Given the description of an element on the screen output the (x, y) to click on. 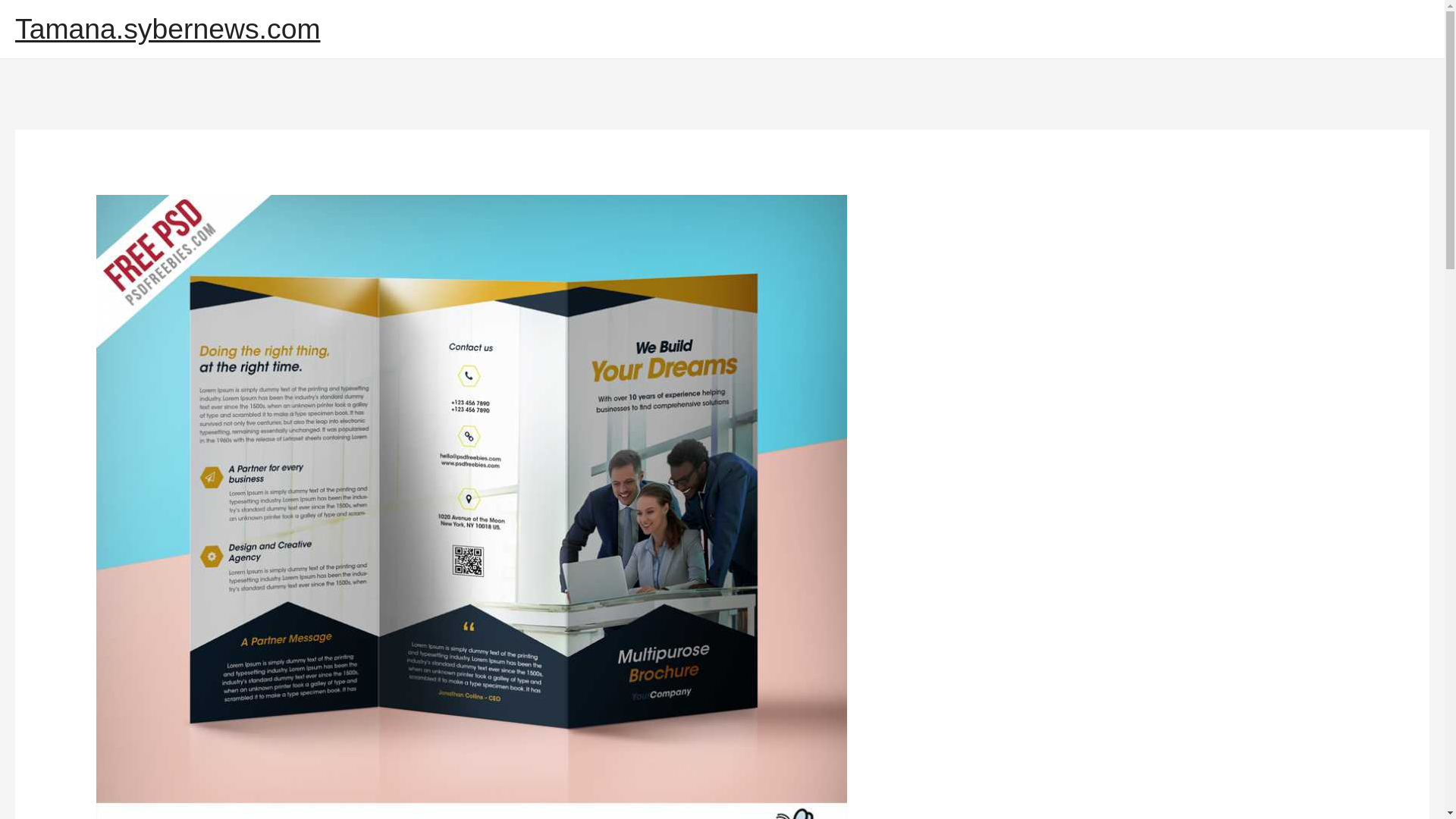
Tamana.sybernews.com (167, 29)
